Given the description of an element on the screen output the (x, y) to click on. 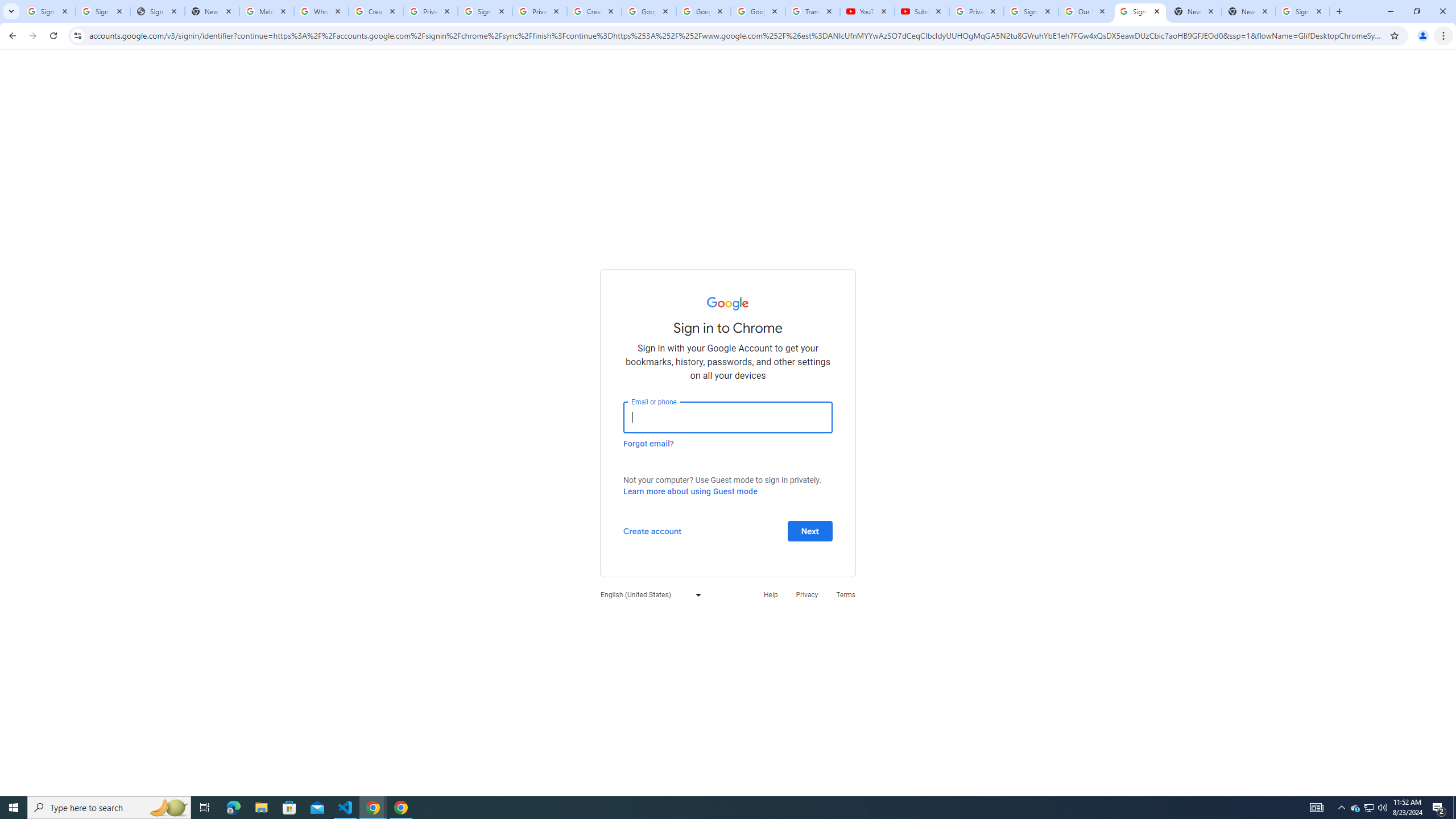
Learn more about using Guest mode (689, 491)
